Given the description of an element on the screen output the (x, y) to click on. 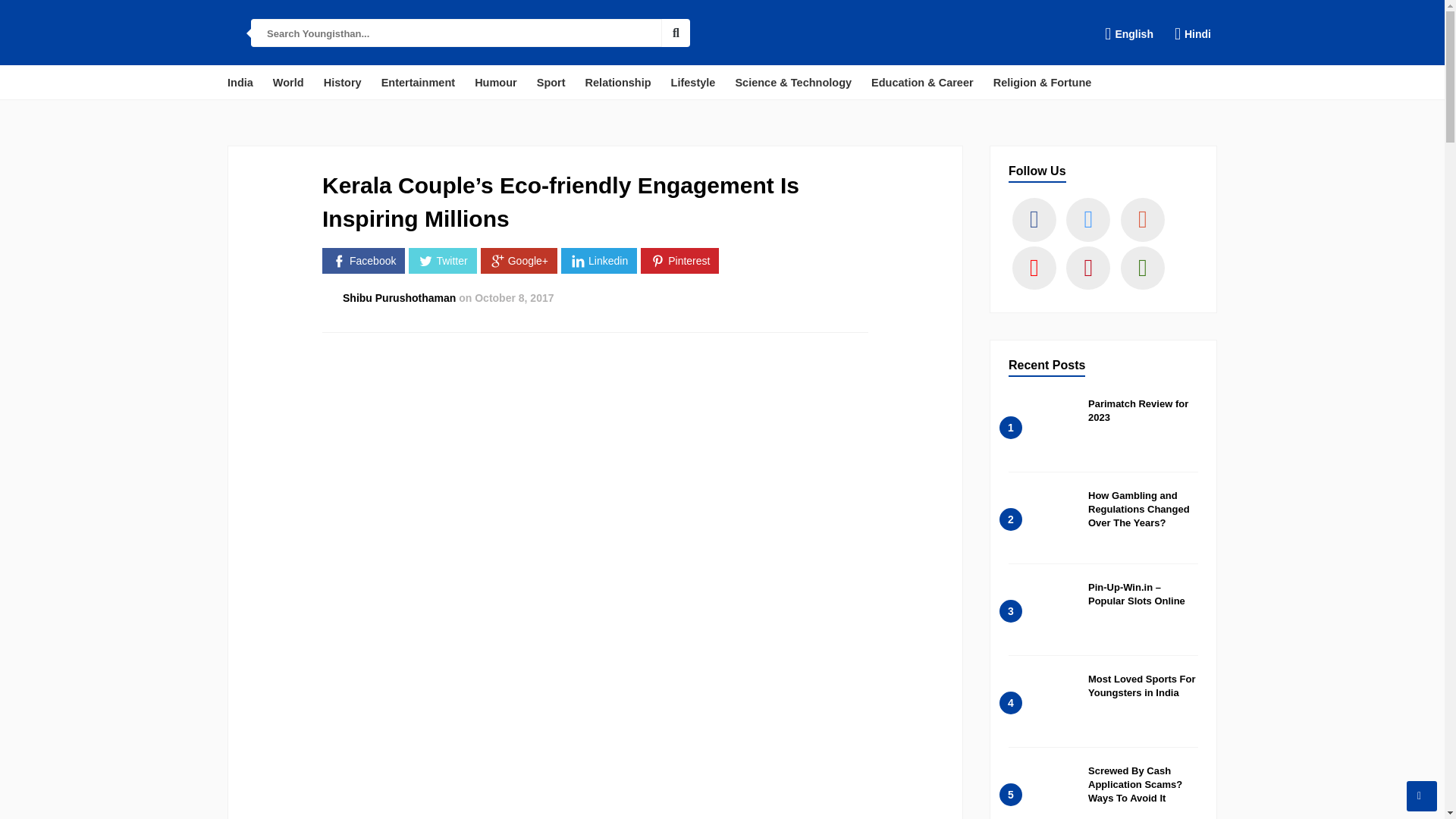
India (240, 82)
Shibu Purushothaman (398, 297)
Humour (495, 82)
Relationship (618, 82)
Twitter (442, 260)
Linkedin (598, 260)
Posts by Shibu Purushothaman (398, 297)
English (1128, 33)
History (342, 82)
Lifestyle (693, 82)
